Given the description of an element on the screen output the (x, y) to click on. 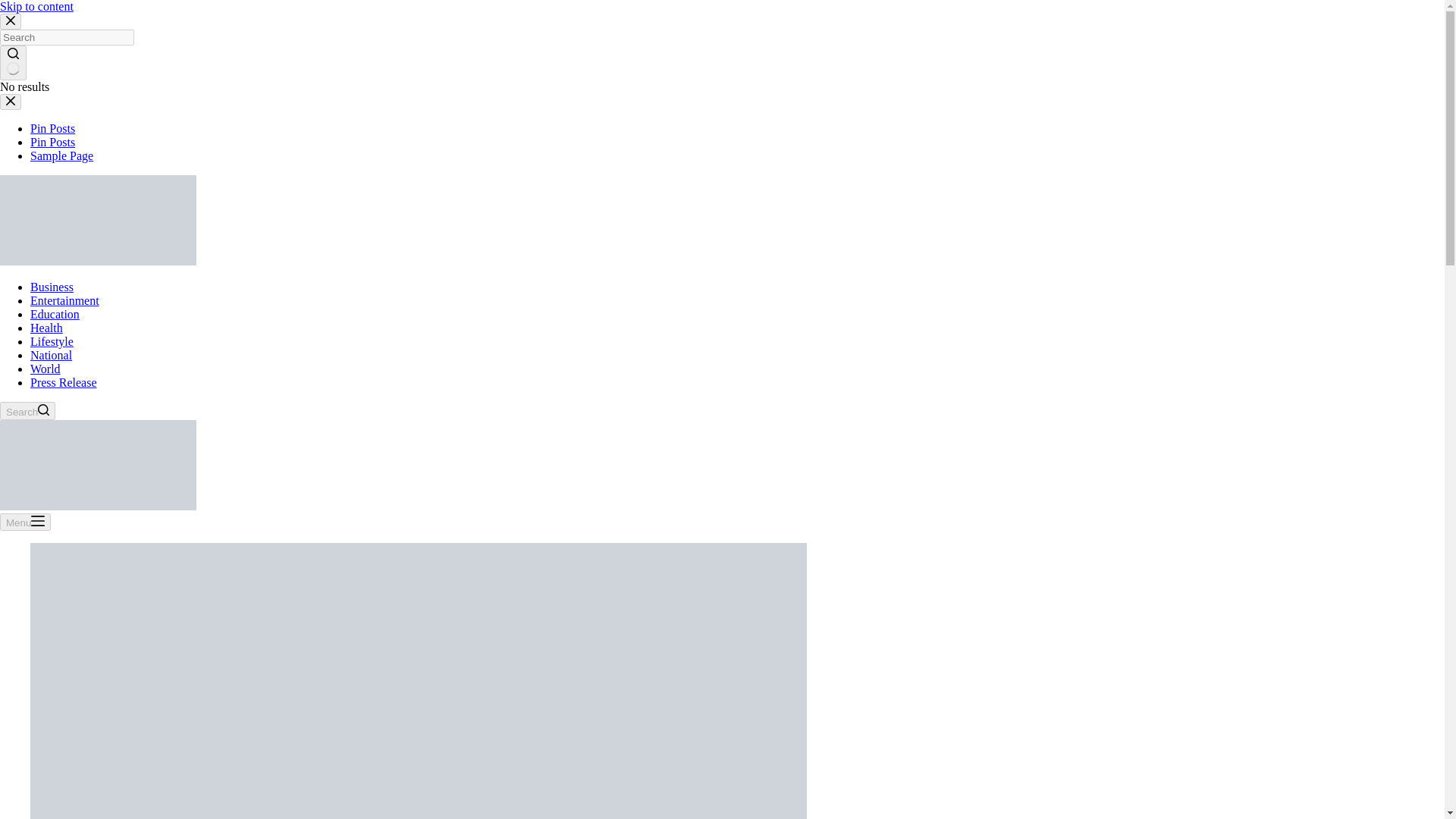
Skip to content (15, 7)
ENTERTAINMENT (727, 45)
Search for... (1063, 151)
6 COMMENTS (421, 713)
LIFESTYLE (350, 713)
PRESS RELEASE (1137, 45)
